Given the description of an element on the screen output the (x, y) to click on. 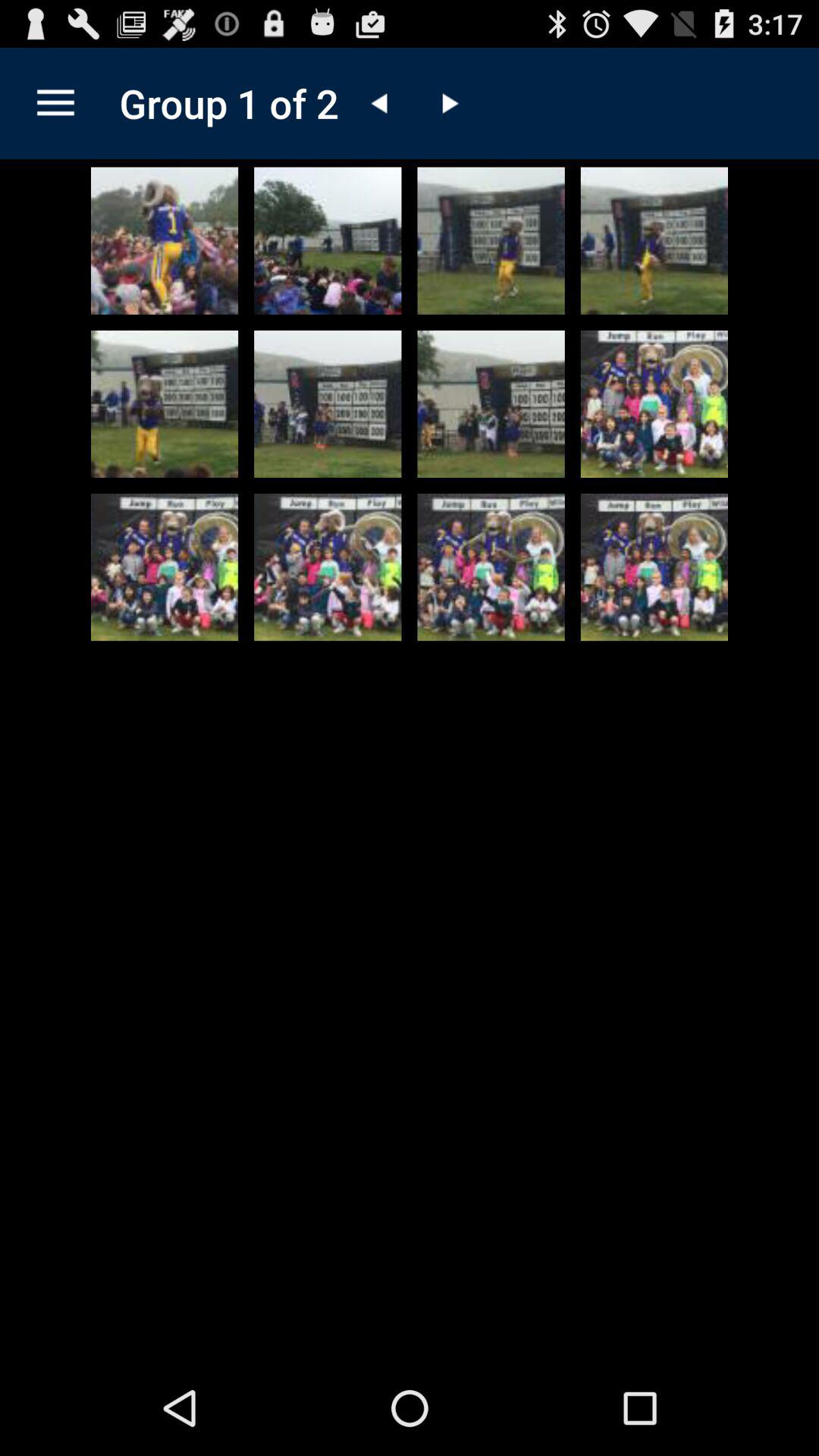
select picture (490, 403)
